Given the description of an element on the screen output the (x, y) to click on. 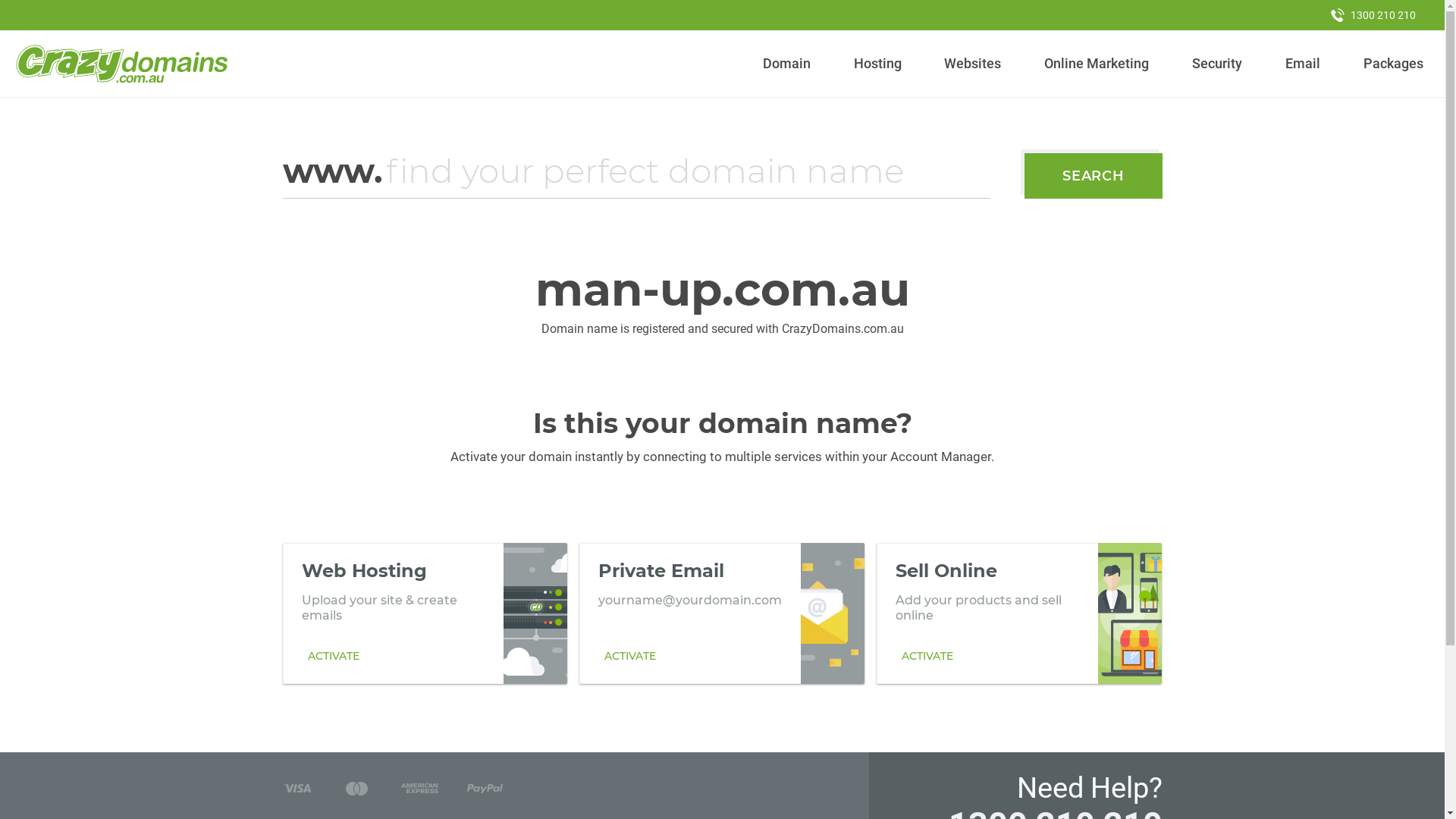
Web Hosting
Upload your site & create emails
ACTIVATE Element type: text (424, 613)
1300 210 210 Element type: text (1373, 15)
Email Element type: text (1302, 63)
Domain Element type: text (786, 63)
Websites Element type: text (972, 63)
Online Marketing Element type: text (1096, 63)
Sell Online
Add your products and sell online
ACTIVATE Element type: text (1018, 613)
Private Email
yourname@yourdomain.com
ACTIVATE Element type: text (721, 613)
SEARCH Element type: text (1092, 175)
Packages Element type: text (1392, 63)
Hosting Element type: text (877, 63)
Security Element type: text (1217, 63)
